Given the description of an element on the screen output the (x, y) to click on. 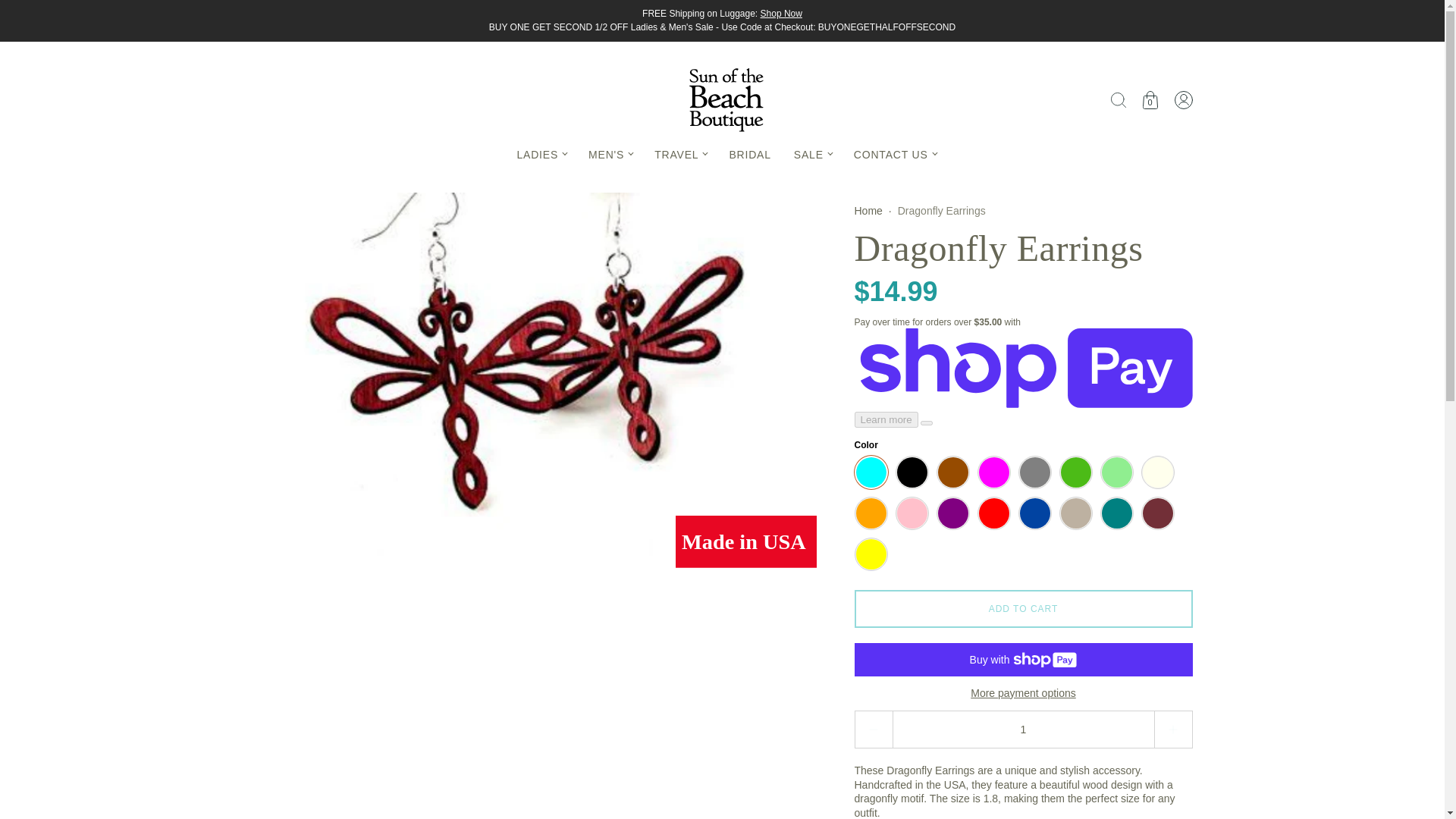
Travel Collection (781, 13)
1 (1022, 729)
Ladies (540, 154)
LADIES (540, 154)
0 (1149, 100)
View cart (1149, 100)
Made in USA (745, 541)
Login (1182, 100)
Shop Now (781, 13)
